Given the description of an element on the screen output the (x, y) to click on. 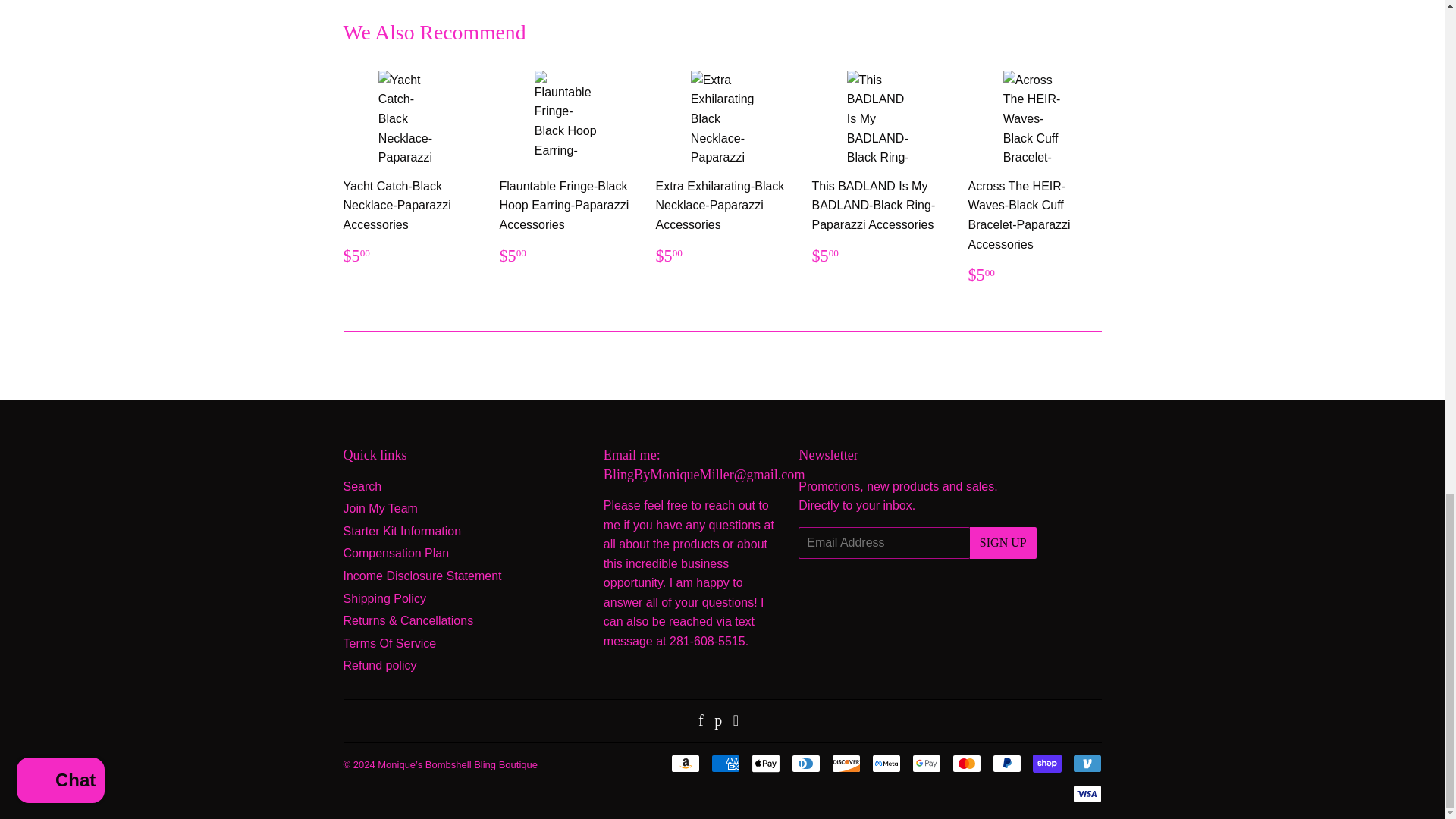
Diners Club (806, 763)
Google Pay (925, 763)
Discover (845, 763)
Meta Pay (886, 763)
Amazon (683, 763)
PayPal (1005, 763)
Shop Pay (1046, 763)
Apple Pay (764, 763)
Mastercard (966, 763)
Venmo (1085, 763)
